Given the description of an element on the screen output the (x, y) to click on. 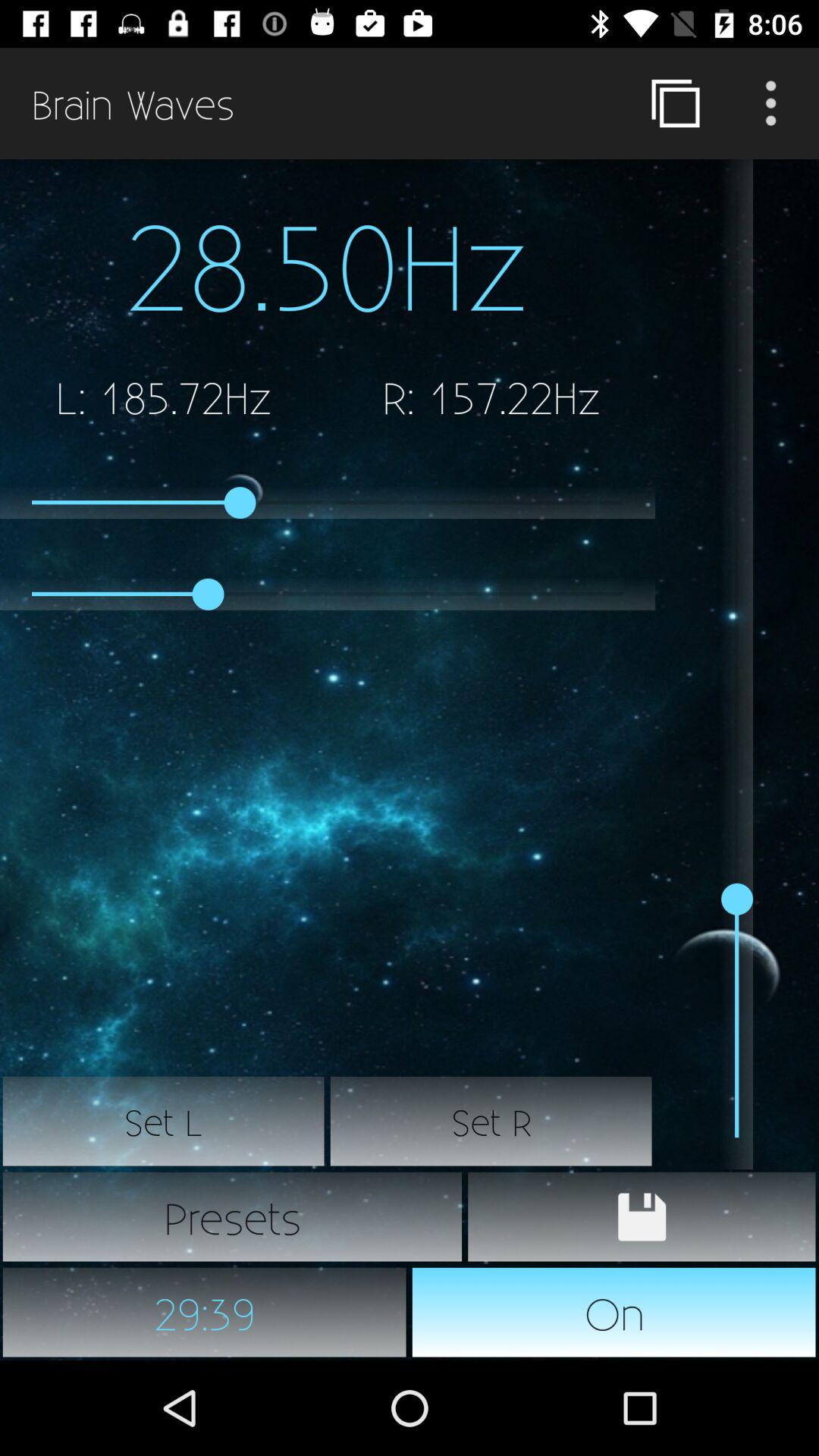
save button (642, 1216)
